Given the description of an element on the screen output the (x, y) to click on. 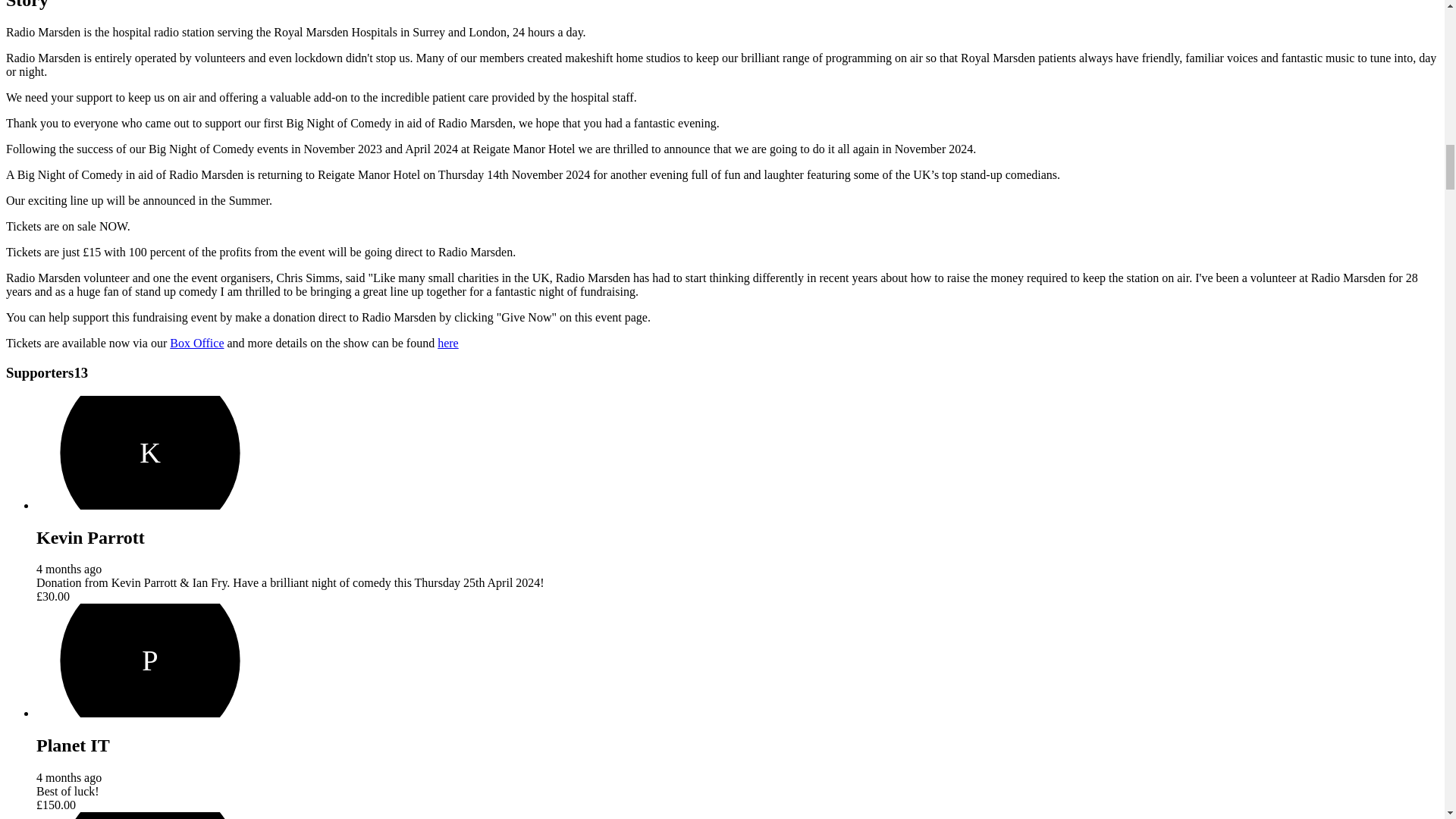
Box Office (197, 342)
T (149, 815)
K (149, 452)
here (448, 342)
P (149, 660)
